Given the description of an element on the screen output the (x, y) to click on. 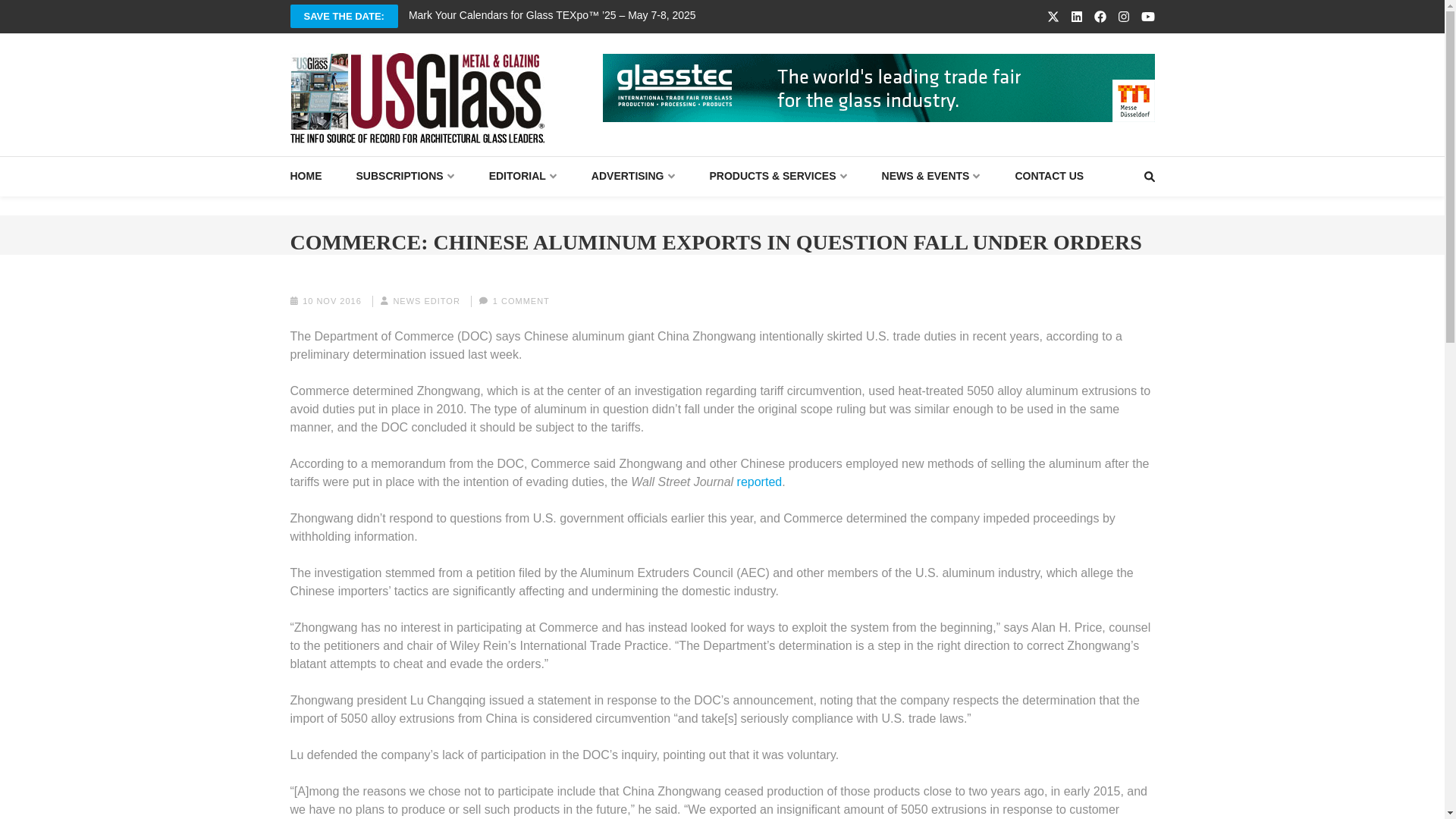
CONTACT US (1048, 176)
EDITORIAL (523, 176)
SAVE THE DATE: (343, 15)
SUBSCRIPTIONS (405, 176)
HOME (305, 176)
ADVERTISING (633, 176)
